Given the description of an element on the screen output the (x, y) to click on. 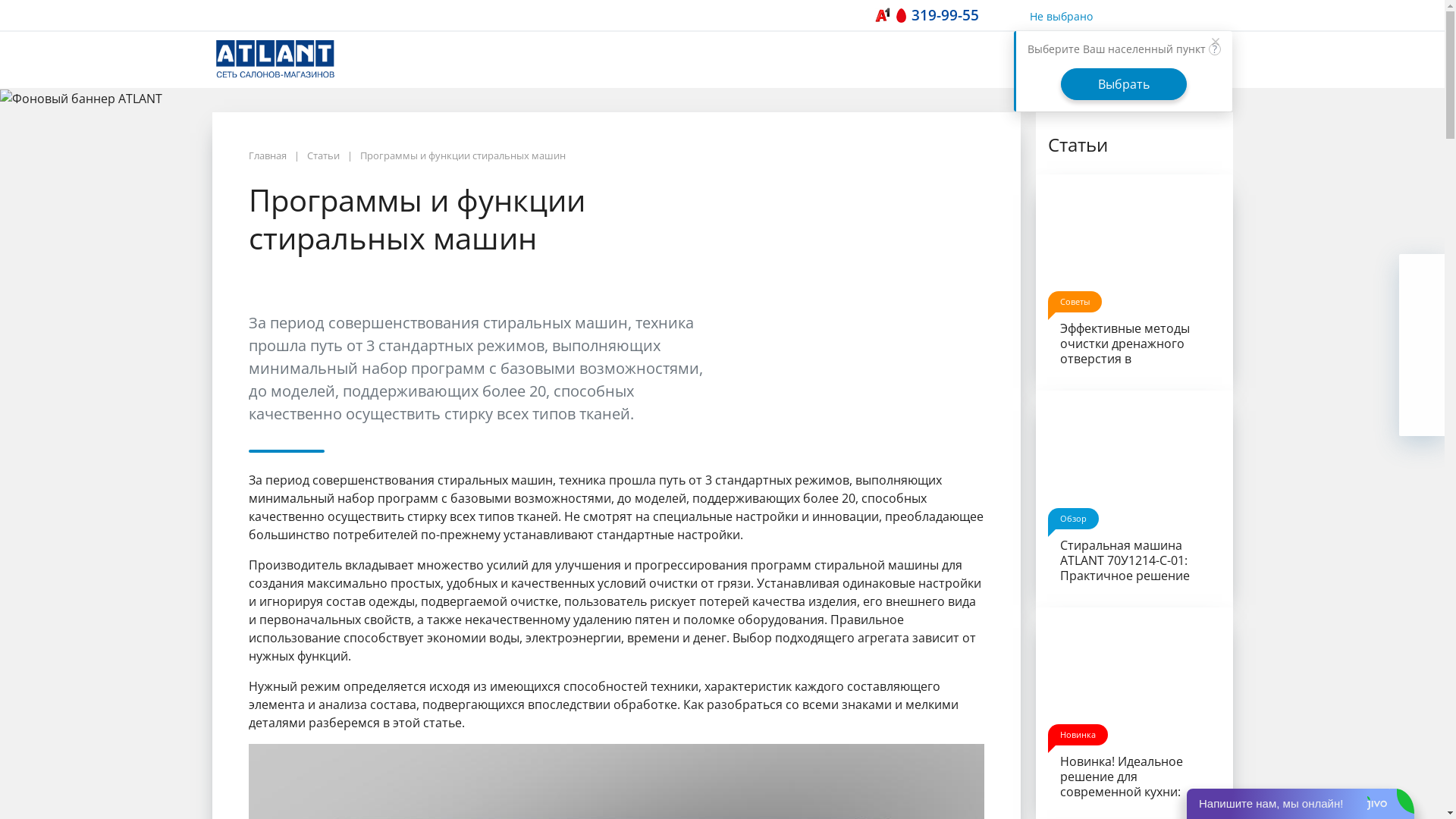
  Element type: text (277, 59)
? Element type: text (1214, 49)
319-99-55 Element type: text (953, 14)
